Given the description of an element on the screen output the (x, y) to click on. 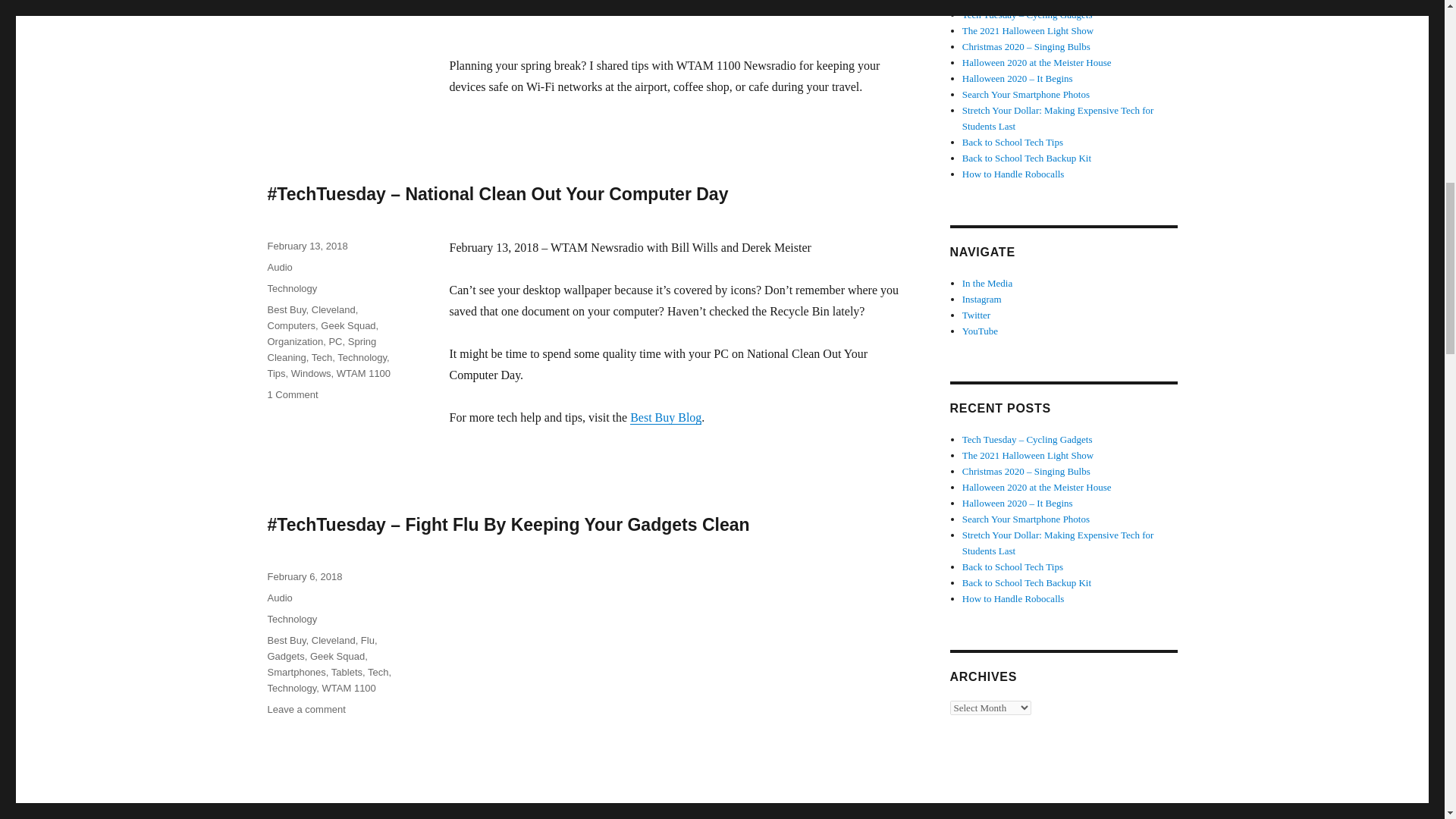
Geek Squad (347, 325)
Cleveland (333, 309)
Computers (290, 325)
Audio (279, 266)
Technology (291, 288)
February 13, 2018 (306, 245)
Best Buy (285, 309)
Best Buy Blog (665, 417)
